Given the description of an element on the screen output the (x, y) to click on. 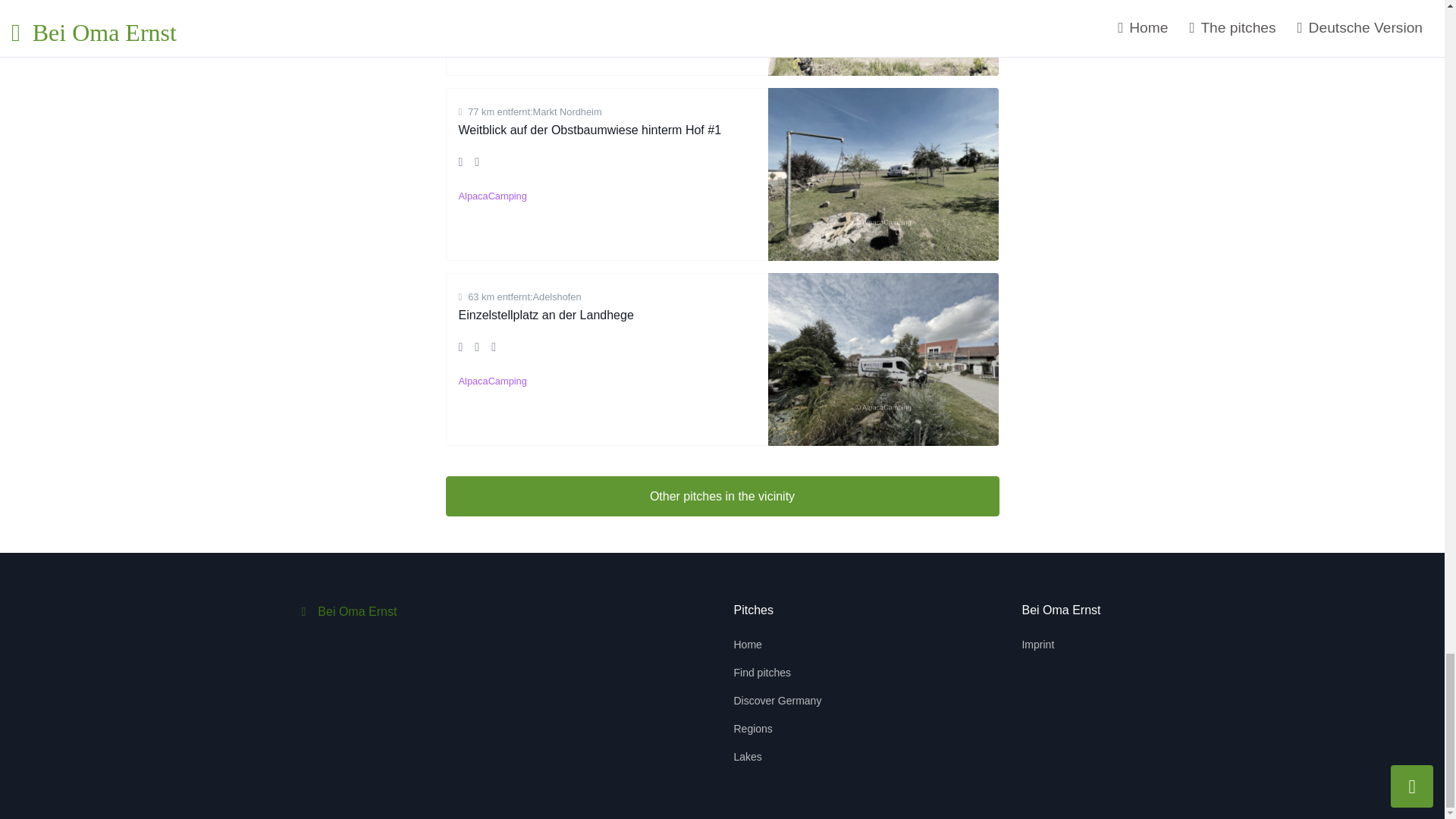
AlpacaCamping (491, 380)
Discover Germany (793, 701)
Einzelstellplatz an der Landhege (545, 314)
AlpacaCamping (491, 195)
Home (793, 645)
Lakes (793, 757)
Find pitches (793, 673)
Other pitches in the vicinity (721, 495)
AlpacaCamping (491, 28)
Regions (793, 729)
